Given the description of an element on the screen output the (x, y) to click on. 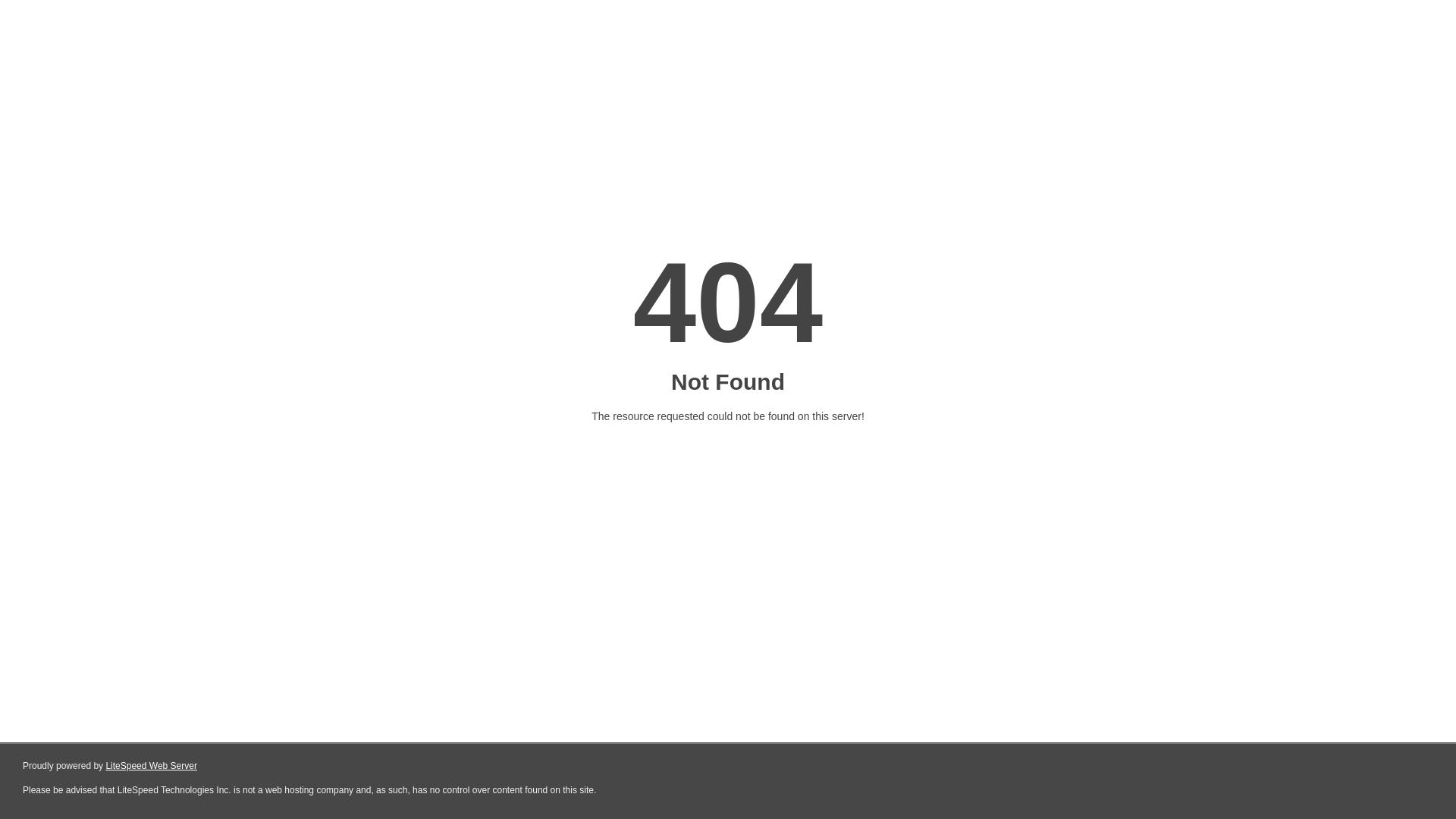
LiteSpeed Web Server Element type: text (151, 765)
